Given the description of an element on the screen output the (x, y) to click on. 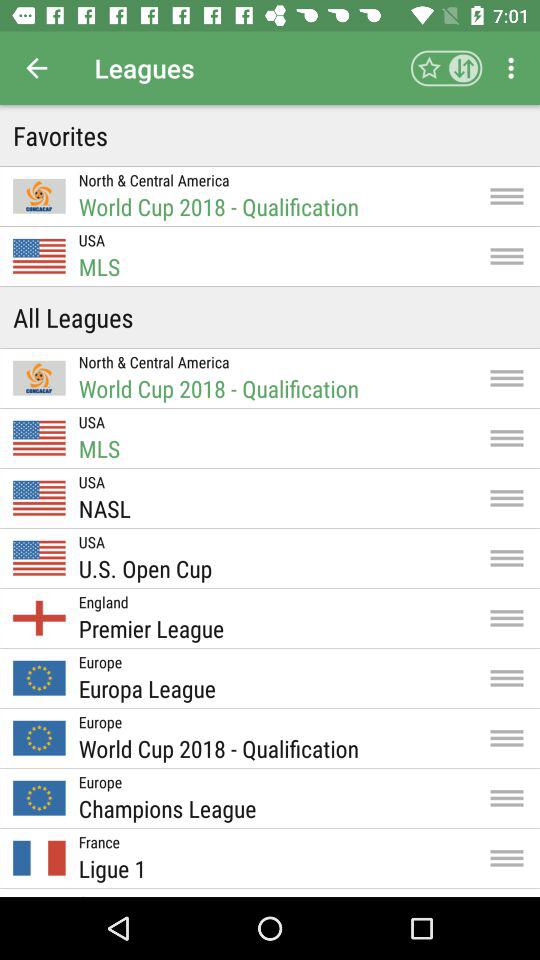
tap the item next to the leagues item (446, 68)
